Given the description of an element on the screen output the (x, y) to click on. 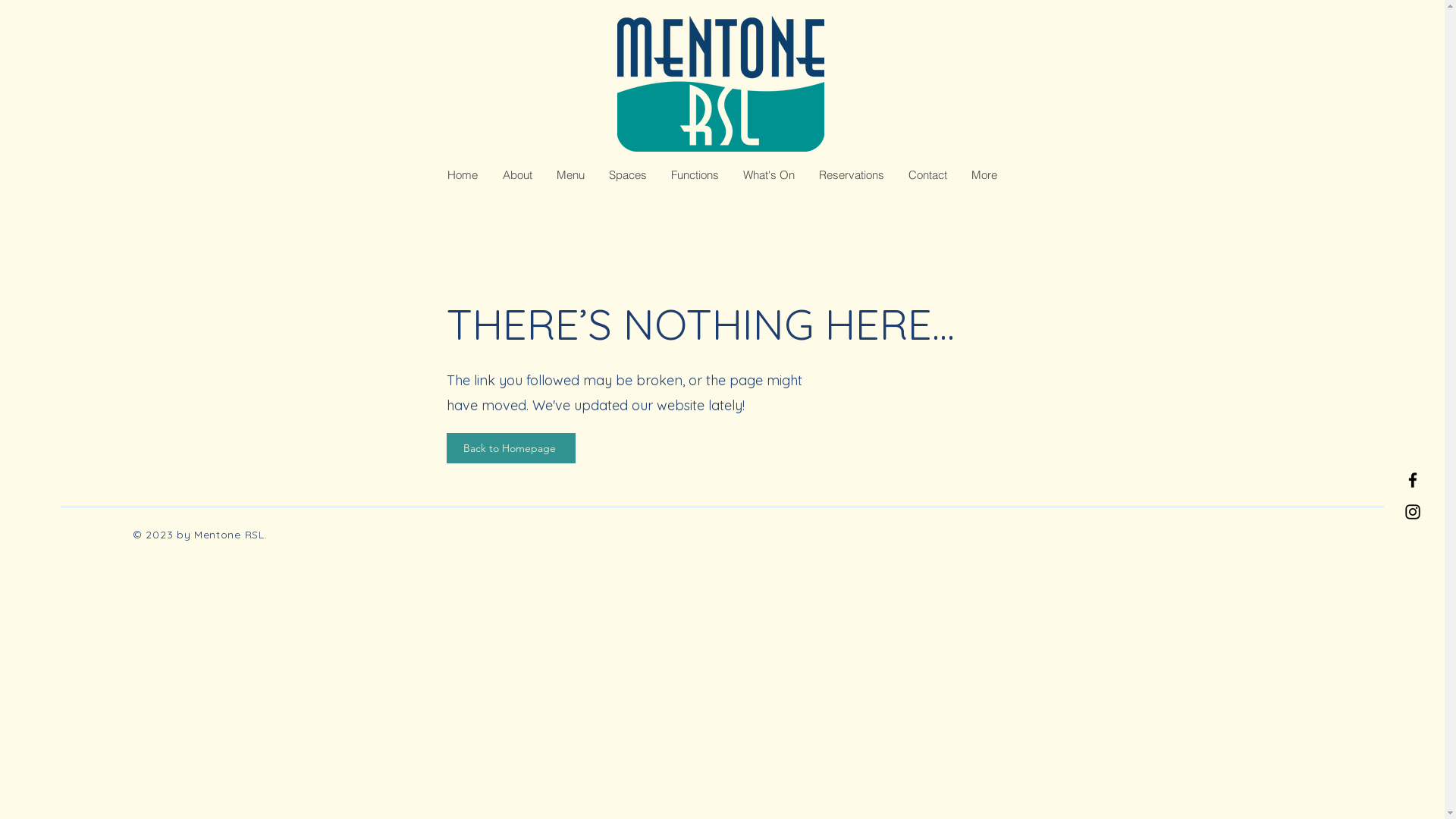
Spaces Element type: text (627, 175)
About Element type: text (516, 175)
Menu Element type: text (570, 175)
mentone-logo.png Element type: hover (720, 83)
Functions Element type: text (694, 175)
What's On Element type: text (768, 175)
Contact Element type: text (927, 175)
Back to Homepage Element type: text (509, 448)
Home Element type: text (462, 175)
Reservations Element type: text (851, 175)
